Given the description of an element on the screen output the (x, y) to click on. 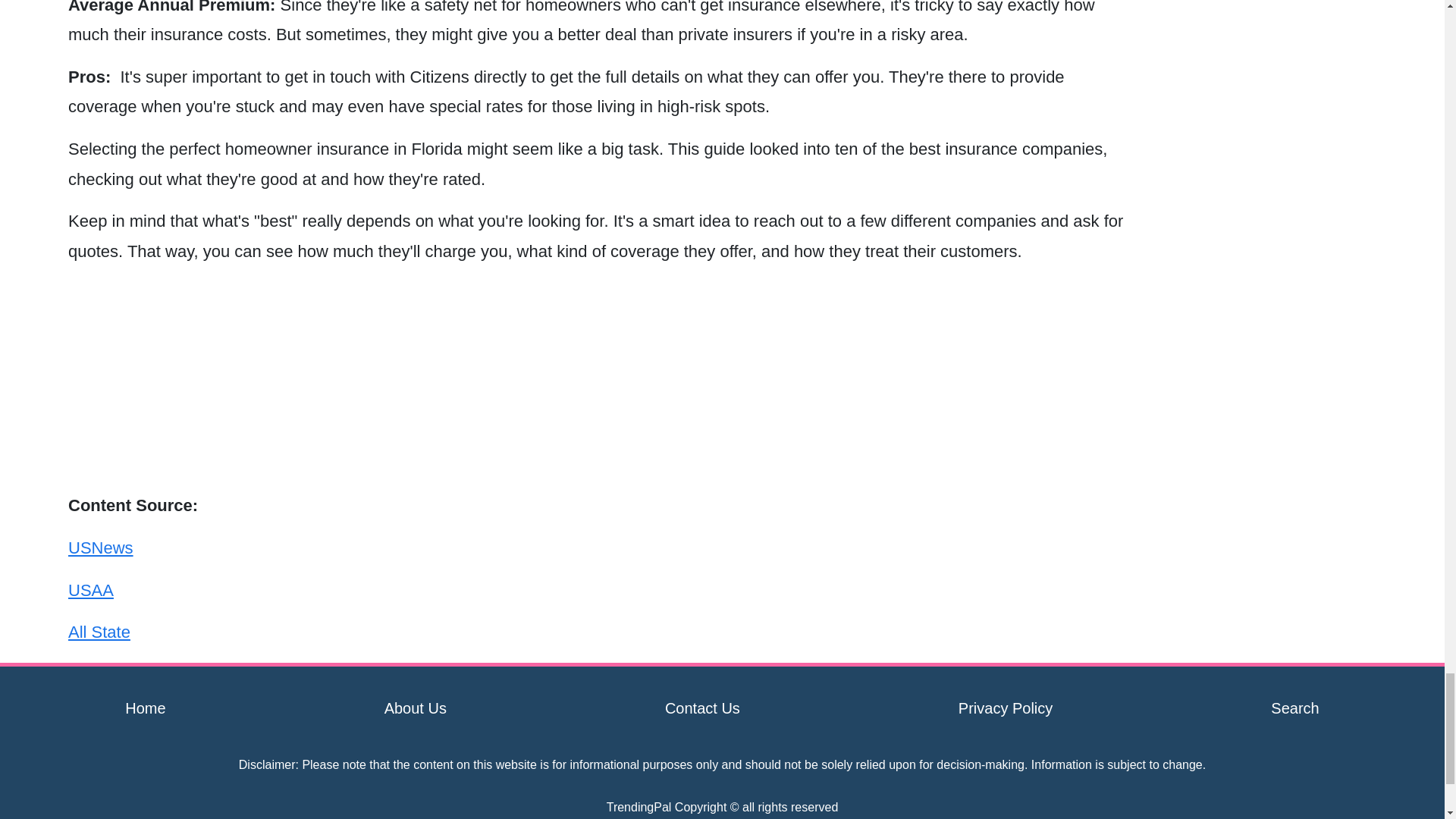
Home (145, 707)
Search (1295, 707)
All State (99, 631)
Contact Us (702, 707)
About Us (415, 707)
Privacy Policy (1005, 707)
TrendingPal (639, 807)
USNews (100, 547)
USAA (90, 589)
